Given the description of an element on the screen output the (x, y) to click on. 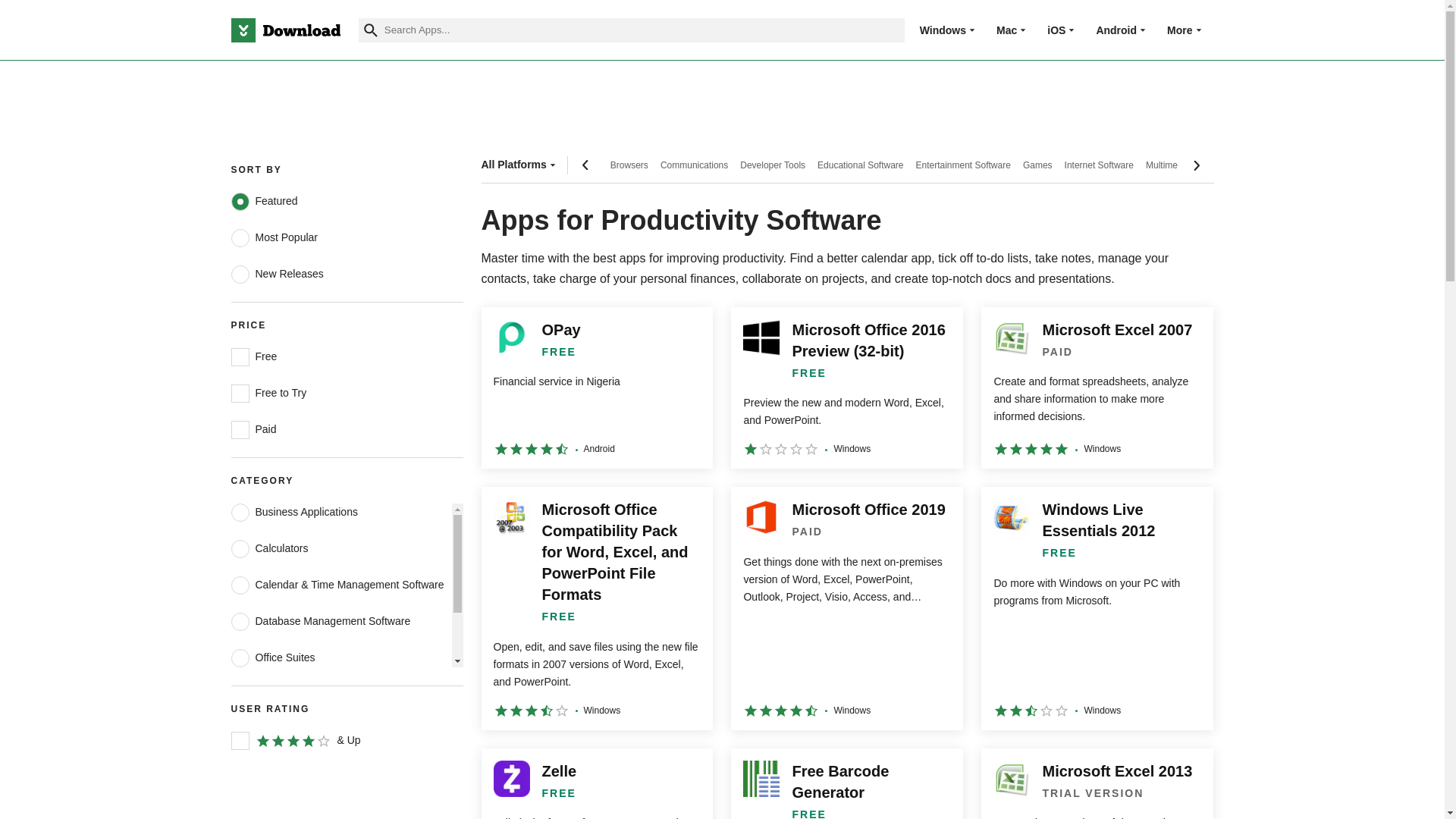
featured (239, 201)
business-databases (239, 621)
paid (239, 429)
Microsoft Excel 2007 (1096, 387)
newReleases (239, 274)
freeToTry (239, 393)
business-taxes-accounting (239, 730)
productivity-calenders-planners (239, 585)
Microsoft Office 2019 (846, 607)
